Given the description of an element on the screen output the (x, y) to click on. 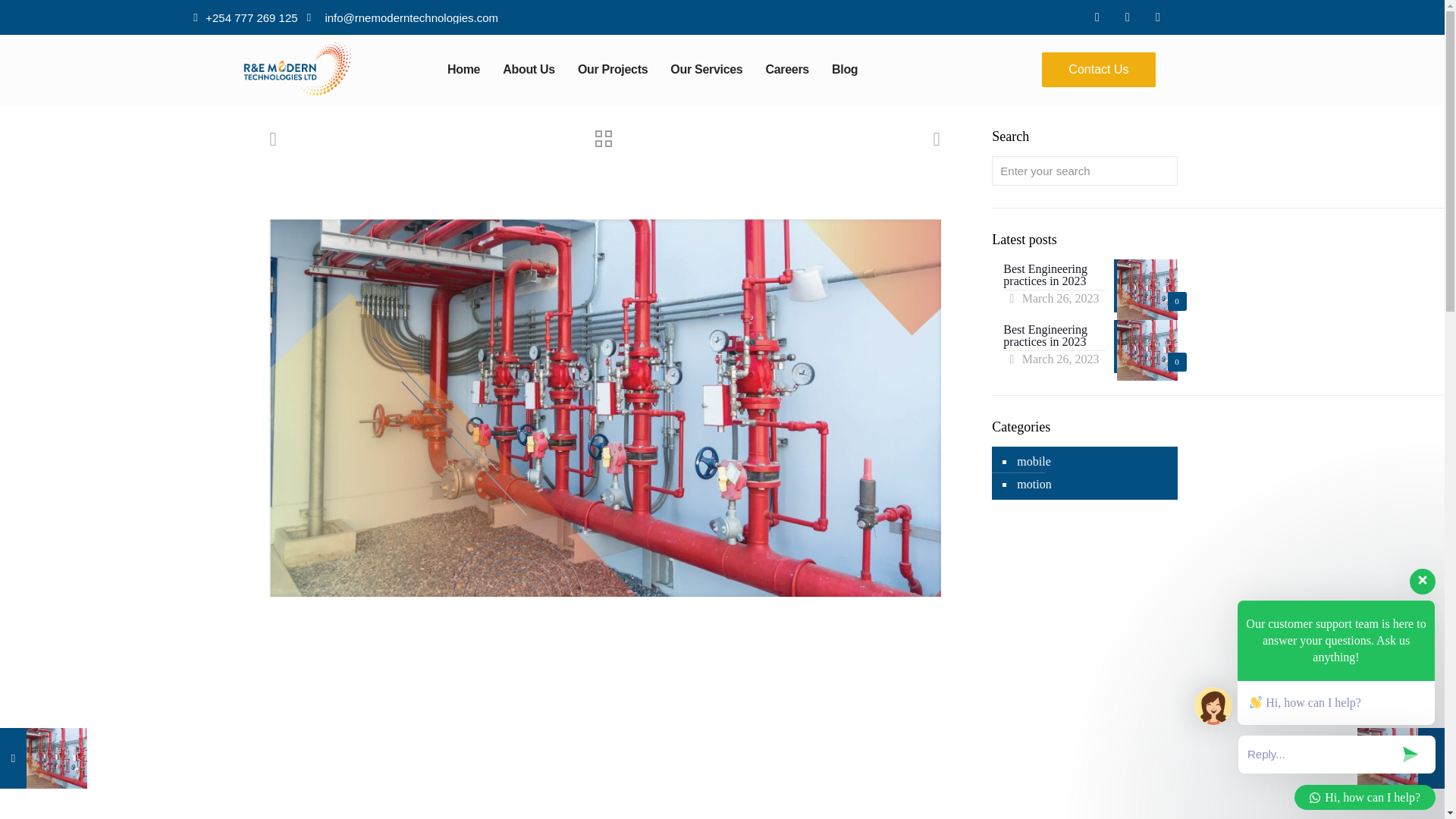
Our Services (706, 69)
Blog (845, 69)
Our Projects (612, 69)
Home (463, 69)
Contact Us (1098, 69)
About Us (529, 69)
Careers (787, 69)
